Given the description of an element on the screen output the (x, y) to click on. 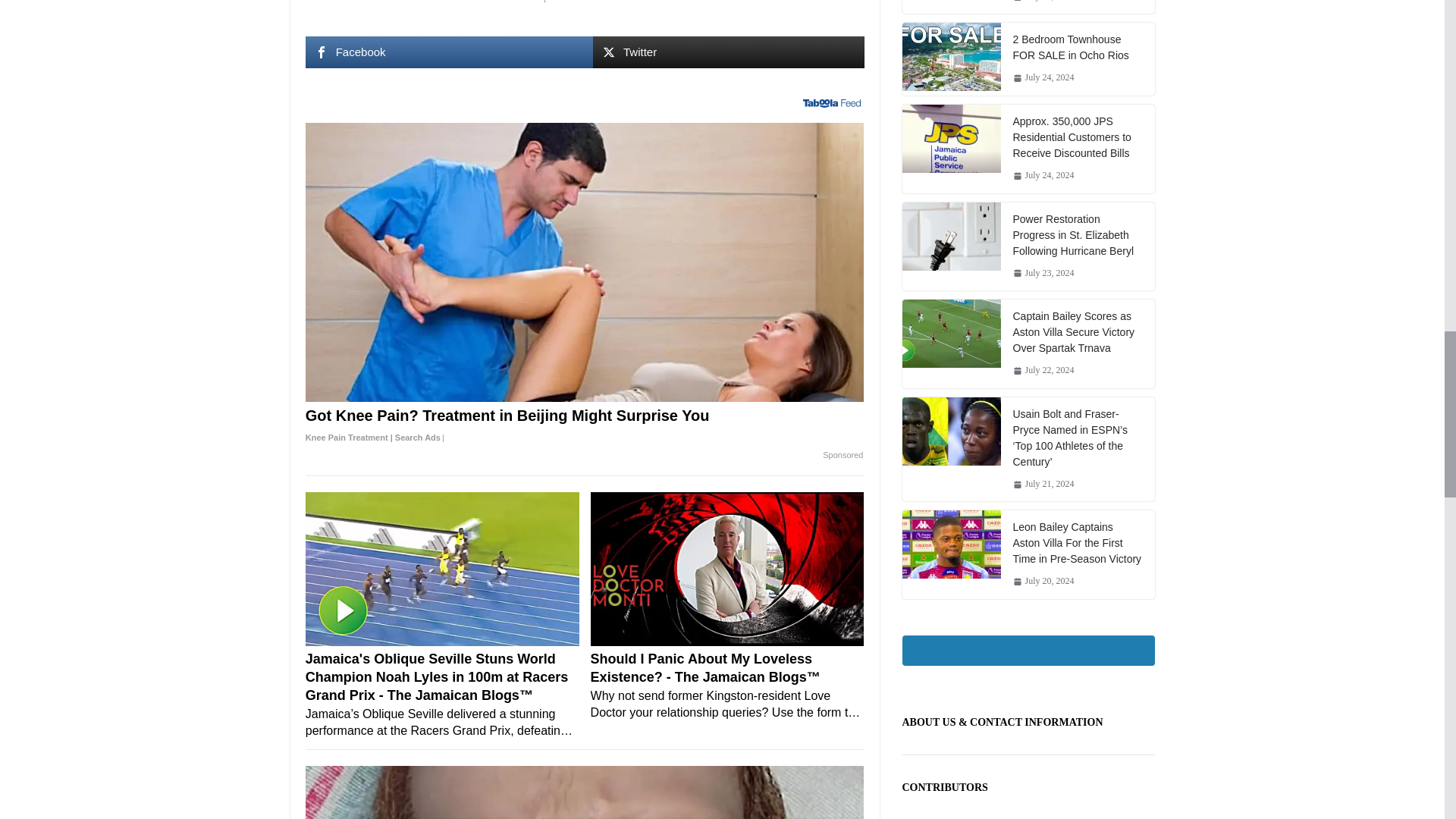
Twitter (728, 51)
Facebook (448, 51)
Sponsored (842, 455)
